Given the description of an element on the screen output the (x, y) to click on. 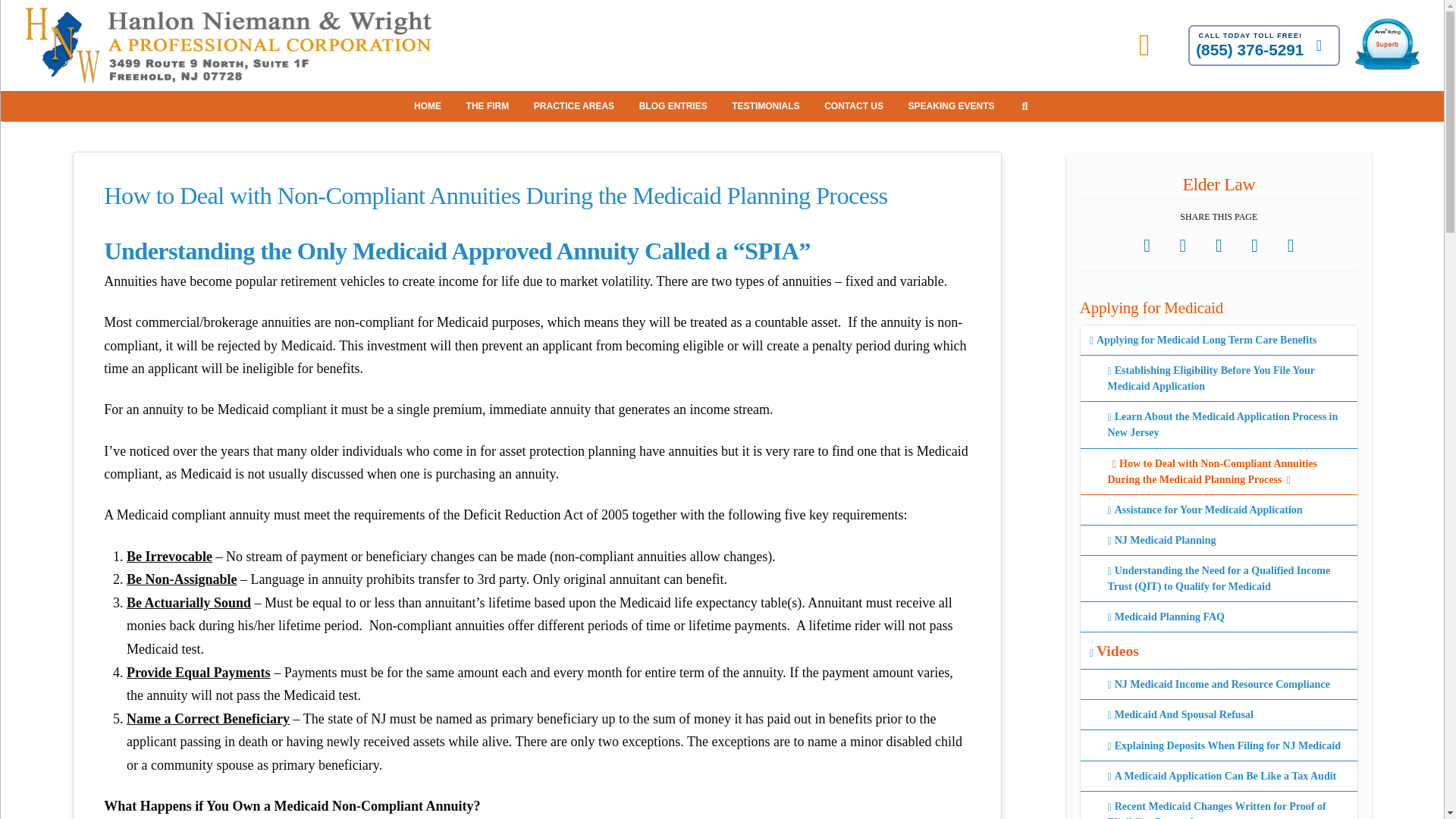
SPEAKING EVENTS (953, 105)
TESTIMONIALS (767, 105)
THE FIRM (489, 105)
Learn About the Medicaid Application Process in New Jersey (1218, 424)
CONTACT US (856, 105)
HOME (429, 105)
NJ Medicaid Planning (1218, 540)
Applying for Medicaid Long Term Care Benefits (1218, 340)
BLOG ENTRIES (674, 105)
PRACTICE AREAS (575, 105)
Assistance for Your Medicaid Application (1218, 510)
